Given the description of an element on the screen output the (x, y) to click on. 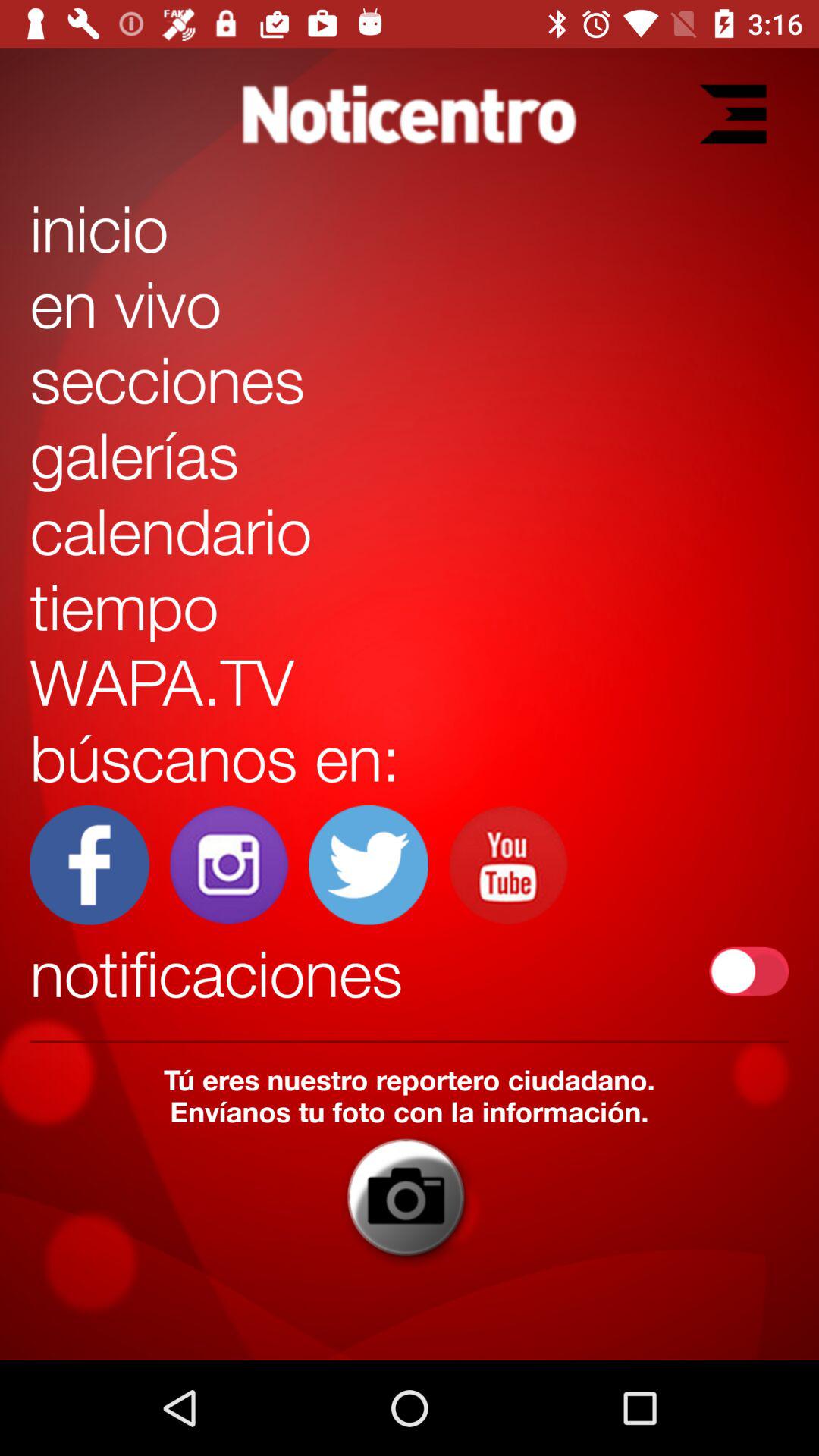
go to the face book (89, 864)
